Given the description of an element on the screen output the (x, y) to click on. 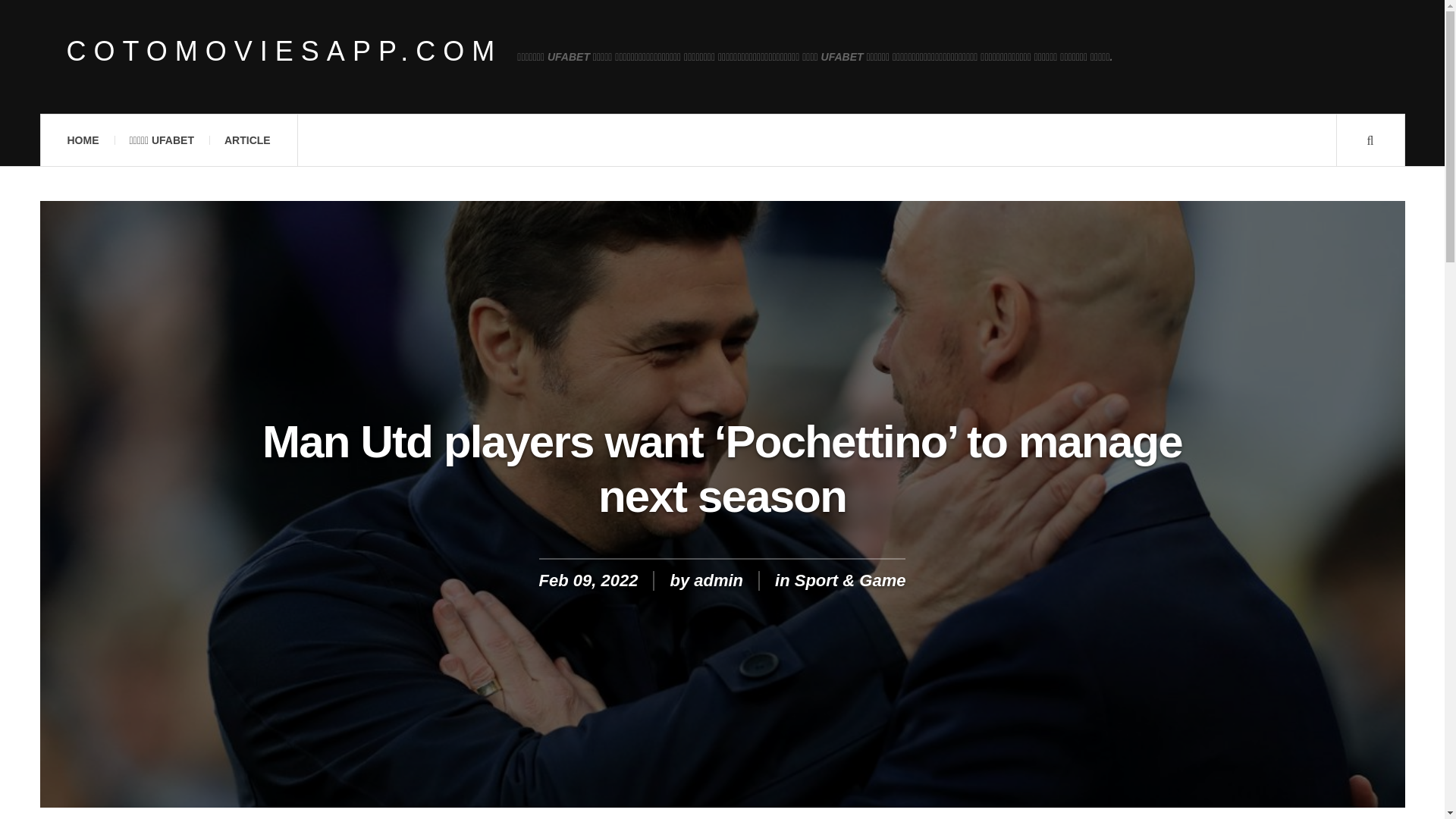
HOME (81, 140)
ARTICLE (247, 140)
admin (718, 579)
COTOMOVIESAPP.COM (284, 51)
cotomoviesapp.com (284, 51)
